Given the description of an element on the screen output the (x, y) to click on. 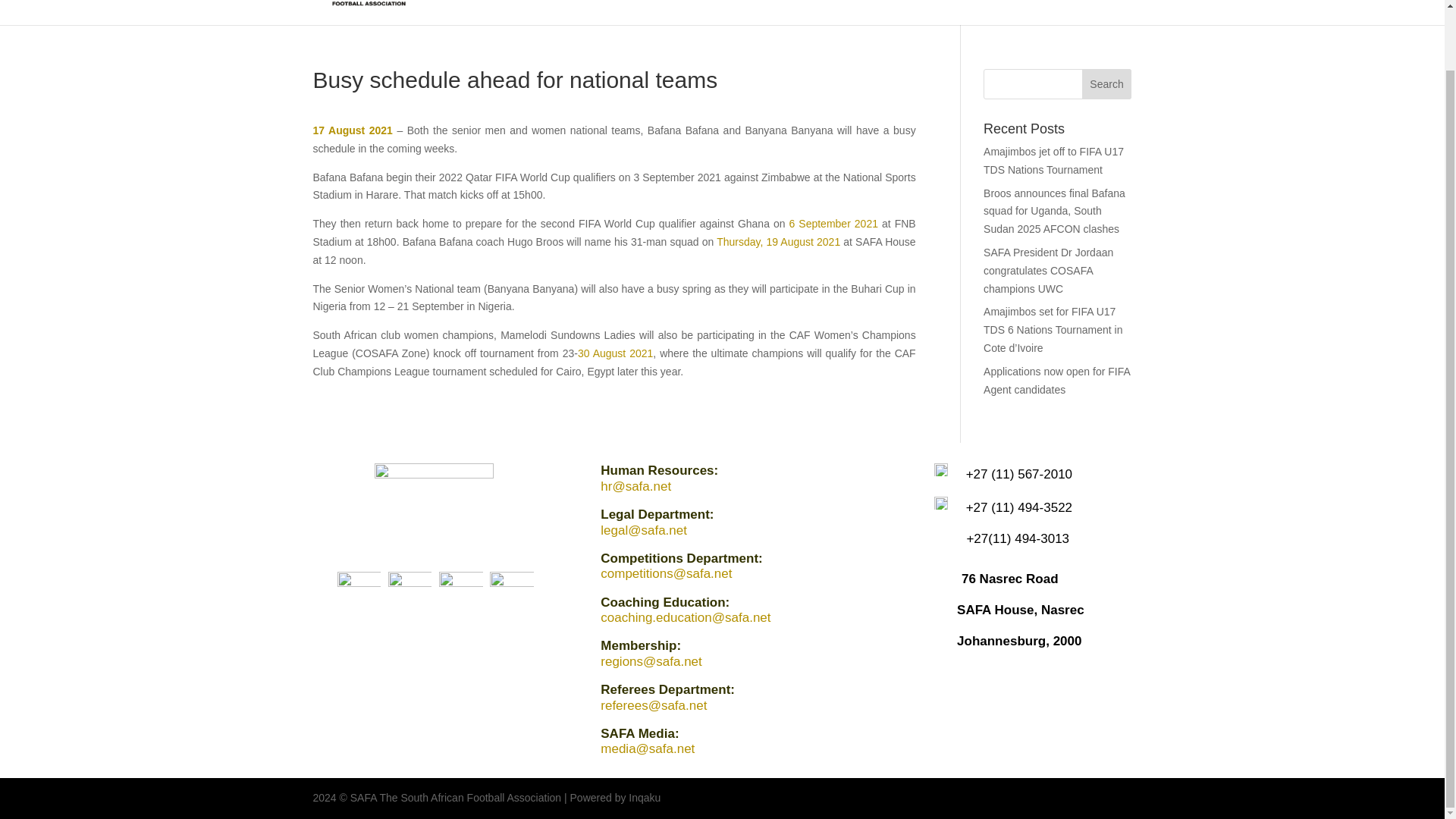
76 Nasrec Road (1009, 578)
Search (1106, 83)
Vision 2022 (938, 12)
Search (1106, 83)
Coaching Education (838, 12)
MYSAFA (745, 12)
Amajimbos jet off to FIFA U17 TDS Nations Tournament  (1054, 160)
SAFA House, Nasrec (1020, 609)
Thursday, 19 August 2021 (778, 241)
